Given the description of an element on the screen output the (x, y) to click on. 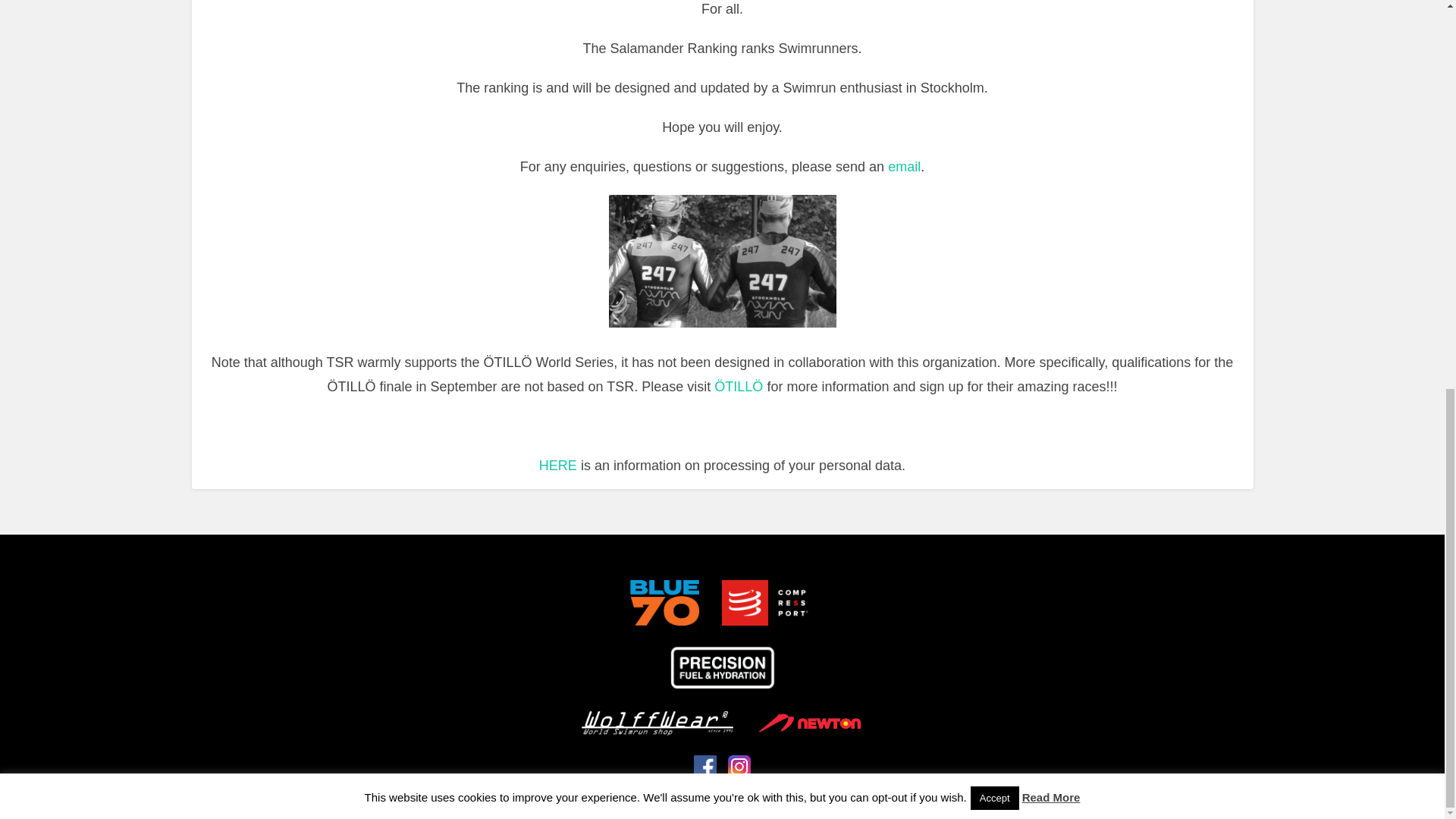
Read More (1051, 58)
Accept (995, 59)
HERE (557, 465)
email (904, 166)
